Given the description of an element on the screen output the (x, y) to click on. 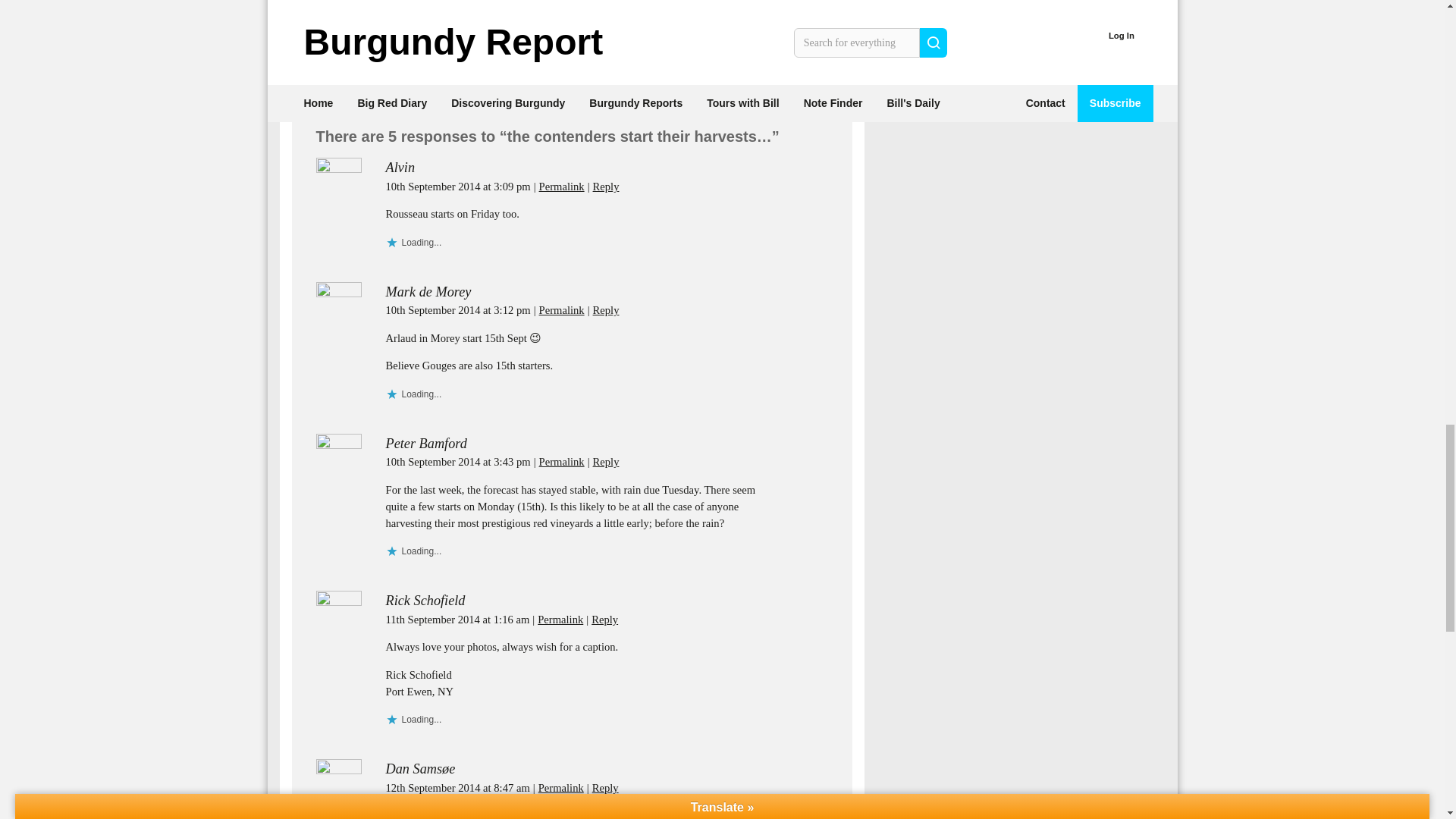
Permalink (561, 186)
Reply (605, 787)
Permalink (560, 619)
Permalink (560, 787)
Reply (604, 619)
Permalink (561, 461)
Reply (606, 309)
Reply (606, 461)
Comment Form (571, 36)
Permalink (561, 309)
